Given the description of an element on the screen output the (x, y) to click on. 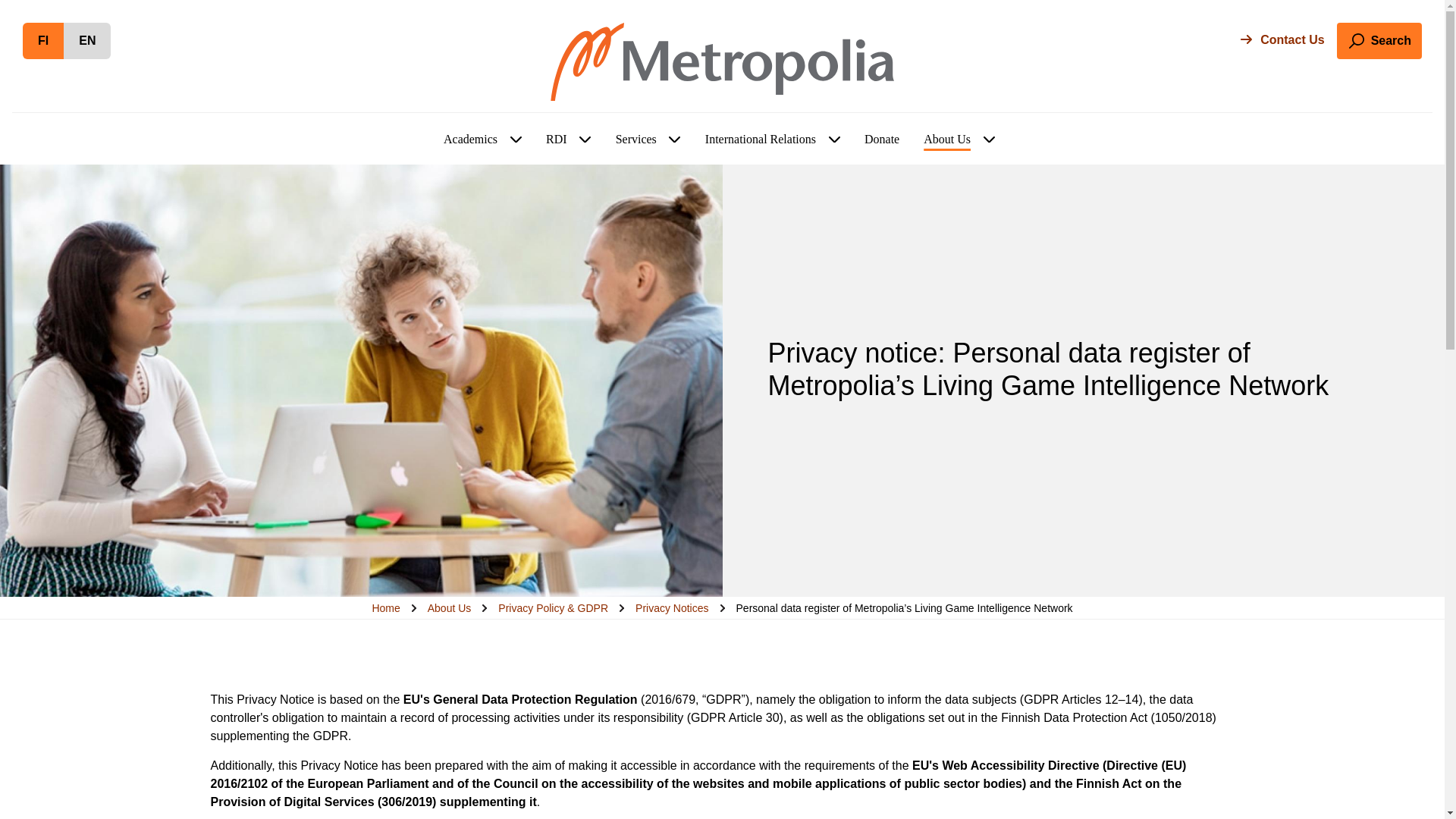
Contact Us (1281, 39)
Show submenu for Academics (515, 139)
Show submenu for RDI (43, 40)
Academics (584, 139)
Show submenu for Services (87, 40)
Search (470, 139)
Services (674, 139)
